Given the description of an element on the screen output the (x, y) to click on. 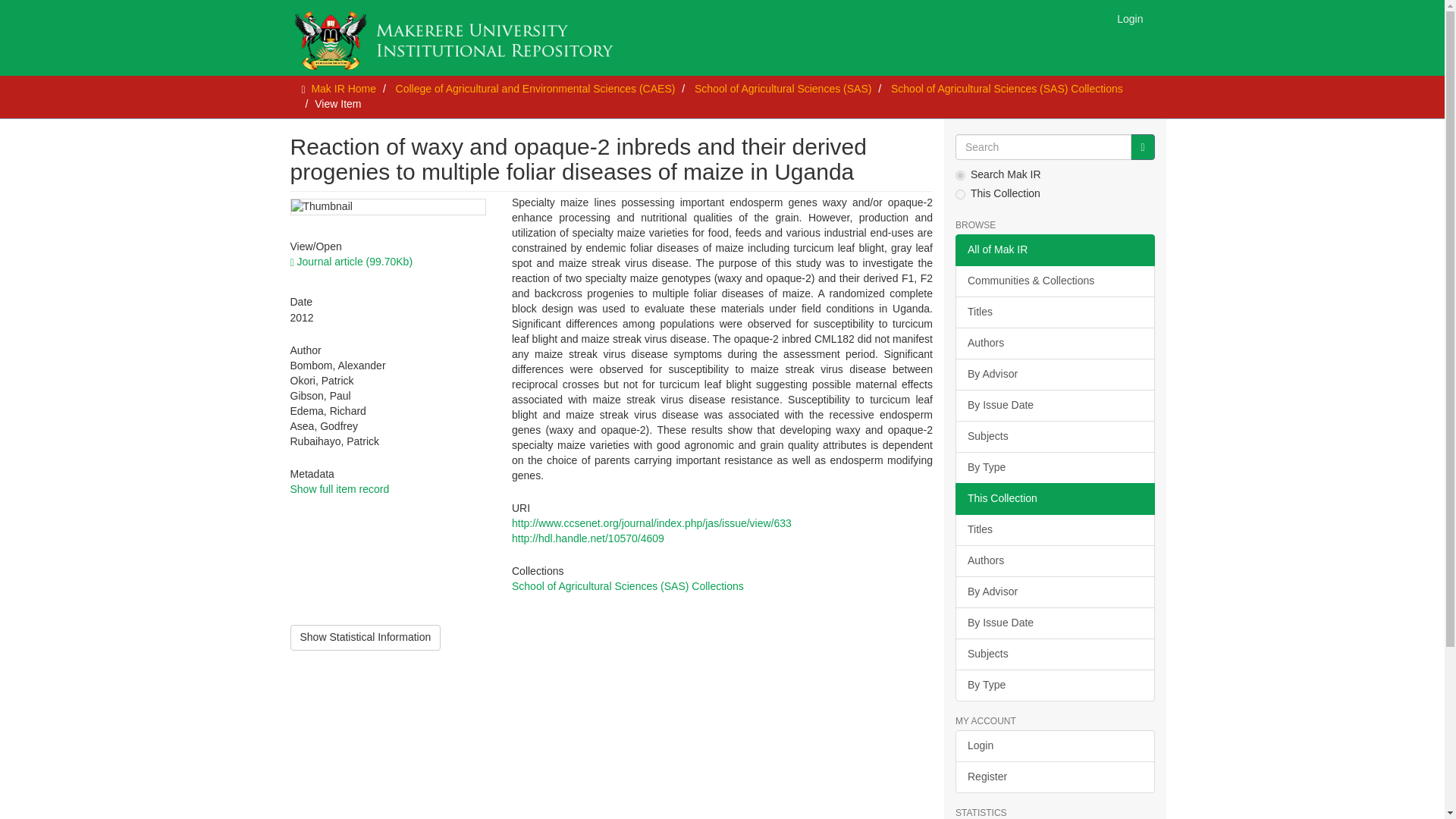
By Issue Date (1054, 405)
Go (1142, 146)
By Advisor (1054, 374)
Authors (1054, 343)
All of Mak IR (1054, 250)
Login (1129, 18)
Authors (1054, 561)
By Advisor (1054, 592)
Subjects (1054, 436)
Mak IR Home (343, 88)
